Given the description of an element on the screen output the (x, y) to click on. 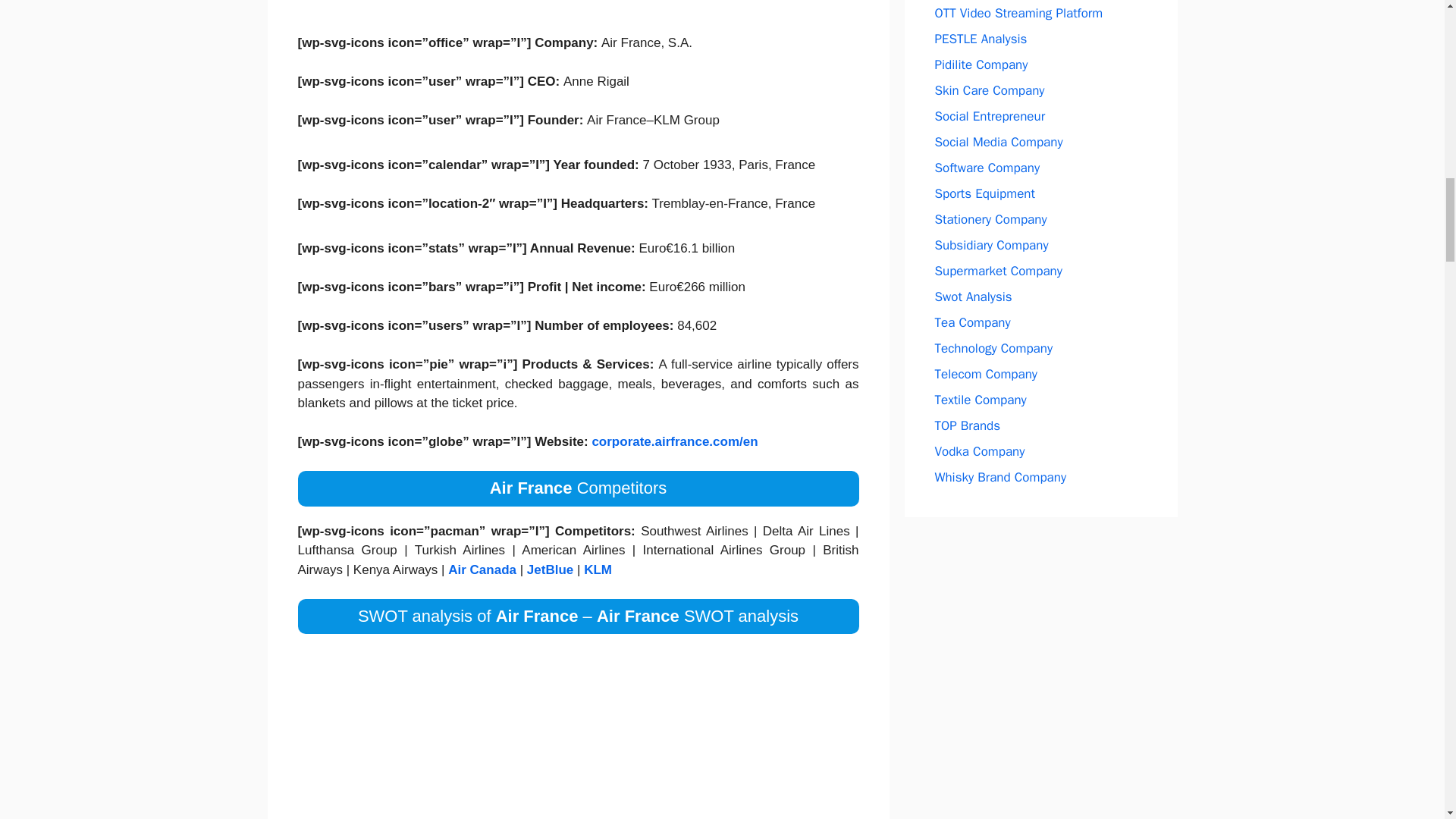
KLM (597, 569)
Air Canada (483, 569)
JetBlue (550, 569)
